Given the description of an element on the screen output the (x, y) to click on. 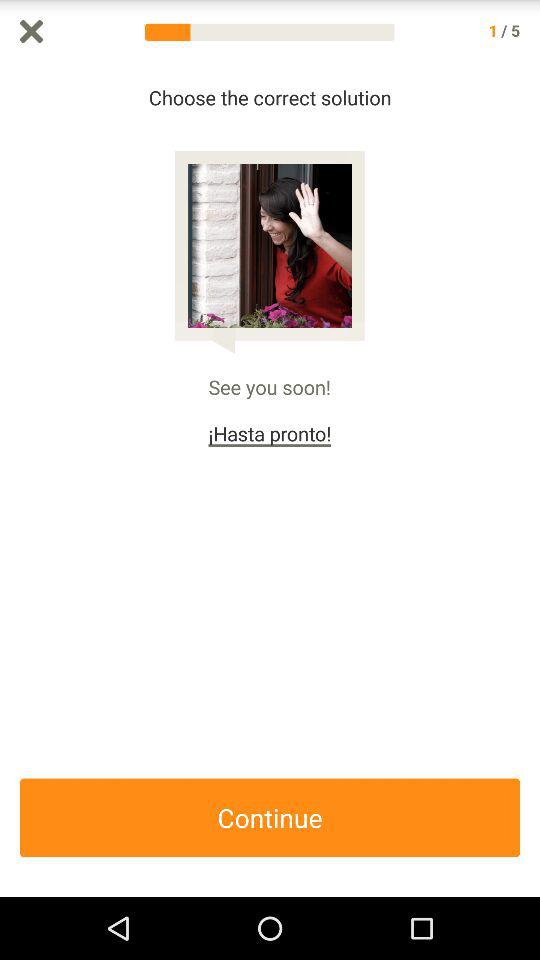
scroll (530, 480)
